Given the description of an element on the screen output the (x, y) to click on. 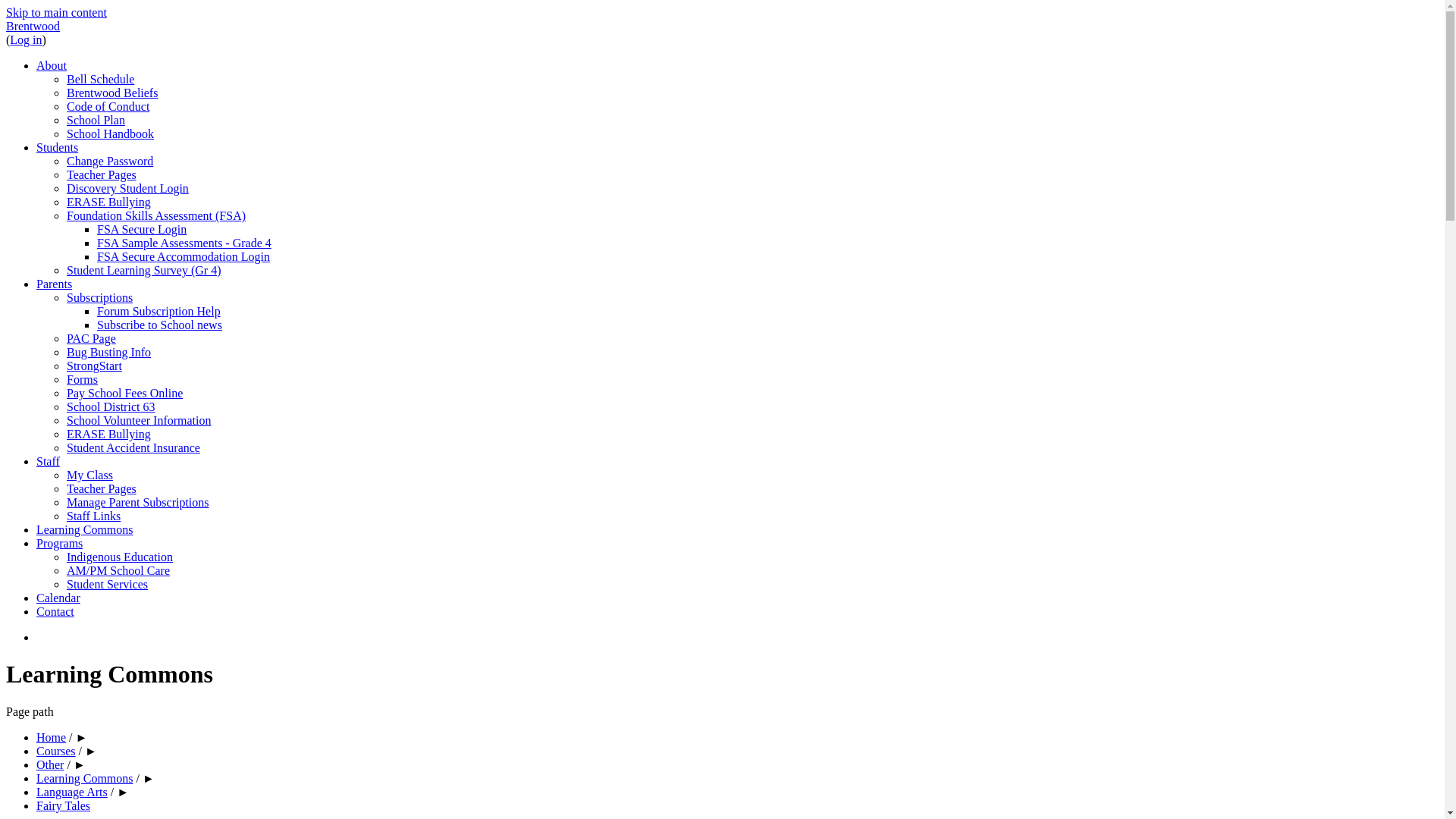
Log in Element type: text (25, 39)
Learning Commons Element type: text (84, 529)
AM/PM School Care Element type: text (117, 570)
Programs Element type: text (59, 542)
School District 63 Element type: text (110, 406)
Discovery Student Login Element type: text (127, 188)
Manage Parent Subscriptions Element type: text (137, 501)
Teacher Pages Element type: text (101, 488)
FSA Secure Accommodation Login Element type: text (183, 256)
ERASE Bullying Element type: text (108, 433)
Pay School Fees Online Element type: text (124, 392)
Language Arts Element type: text (71, 791)
Other Element type: text (49, 764)
Student Learning Survey (Gr 4) Element type: text (143, 269)
Contact Element type: text (55, 611)
Home Element type: text (50, 737)
Student Accident Insurance Element type: text (133, 447)
Fairy Tales Element type: text (63, 805)
Forms Element type: text (81, 379)
Staff Links Element type: text (93, 515)
FSA Sample Assessments - Grade 4 Element type: text (184, 242)
StrongStart Element type: text (94, 365)
Skip to main content Element type: text (56, 12)
School Plan Element type: text (95, 119)
Foundation Skills Assessment (FSA) Element type: text (155, 215)
Brentwood Element type: text (32, 25)
Code of Conduct Element type: text (107, 106)
School Handbook Element type: text (109, 133)
Forum Subscription Help Element type: text (158, 310)
School Volunteer Information Element type: text (138, 420)
Change Password Element type: text (109, 160)
FSA Secure Login Element type: text (141, 228)
Teacher Pages Element type: text (101, 174)
Brentwood Beliefs Element type: text (111, 92)
Calendar Element type: text (58, 597)
ERASE Bullying Element type: text (108, 201)
Subscriptions Element type: text (99, 297)
My Class Element type: text (89, 474)
Courses Element type: text (55, 750)
Students Element type: text (57, 147)
About Element type: text (51, 65)
Learning Commons Element type: text (84, 777)
Indigenous Education Element type: text (119, 556)
Parents Element type: text (54, 283)
Subscribe to School news Element type: text (159, 324)
Bell Schedule Element type: text (100, 78)
Student Services Element type: text (106, 583)
Bug Busting Info Element type: text (108, 351)
PAC Page Element type: text (91, 338)
Staff Element type: text (47, 461)
